Given the description of an element on the screen output the (x, y) to click on. 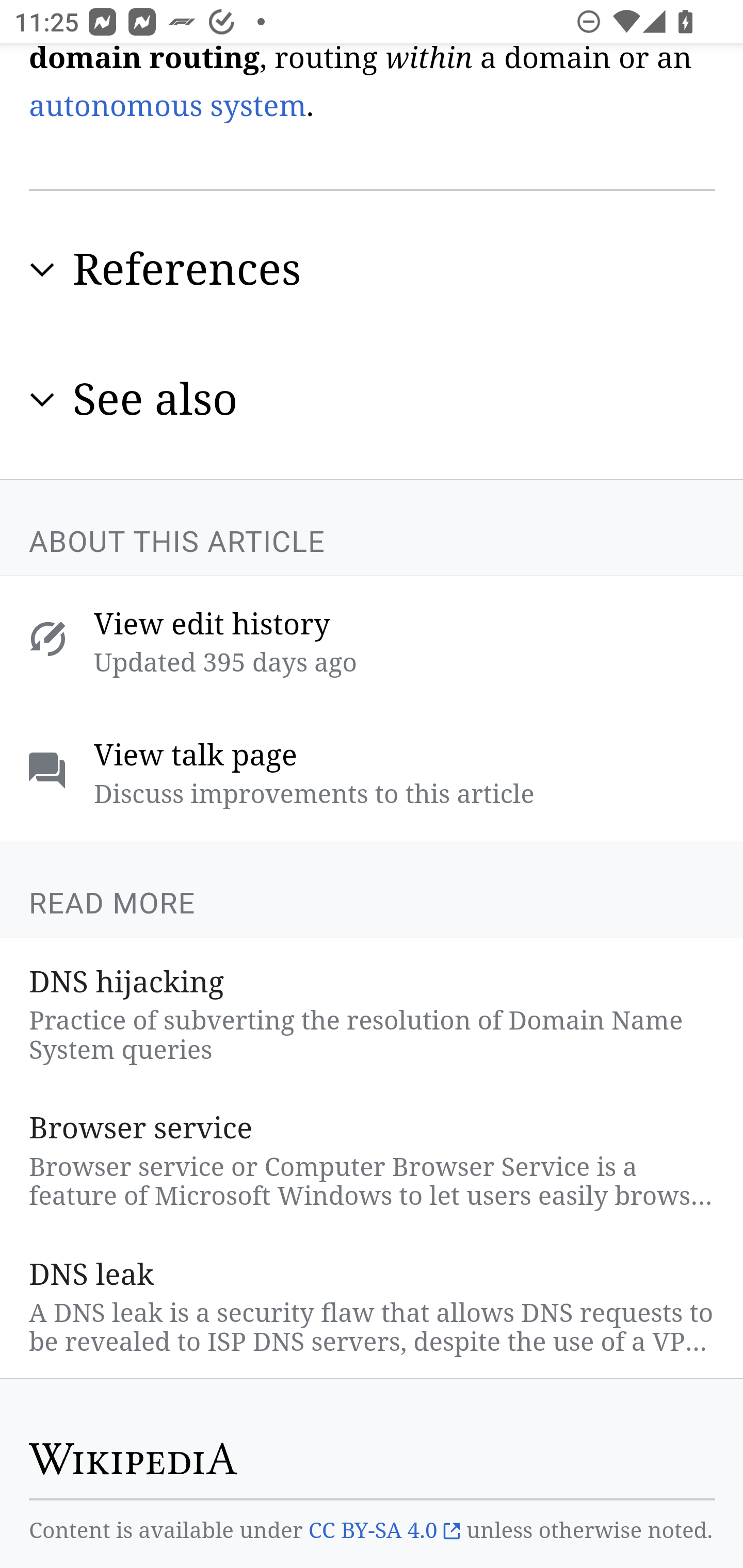
autonomous system (167, 105)
Expand section References (372, 269)
Expand section (41, 270)
Expand section See also (372, 399)
Expand section (41, 398)
CC BY-SA 4.0 (384, 1531)
